Given the description of an element on the screen output the (x, y) to click on. 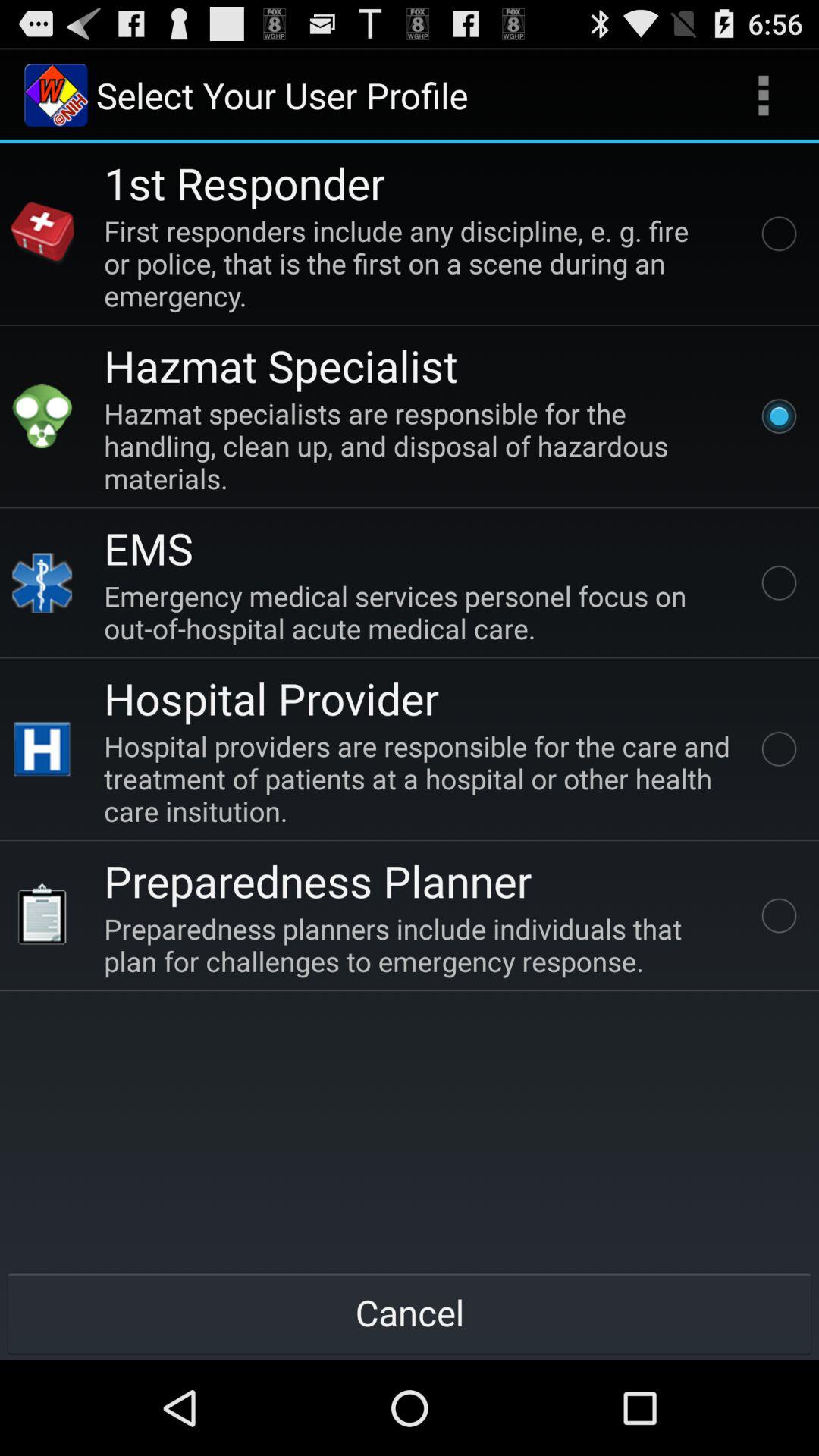
swipe to the ems (148, 547)
